Given the description of an element on the screen output the (x, y) to click on. 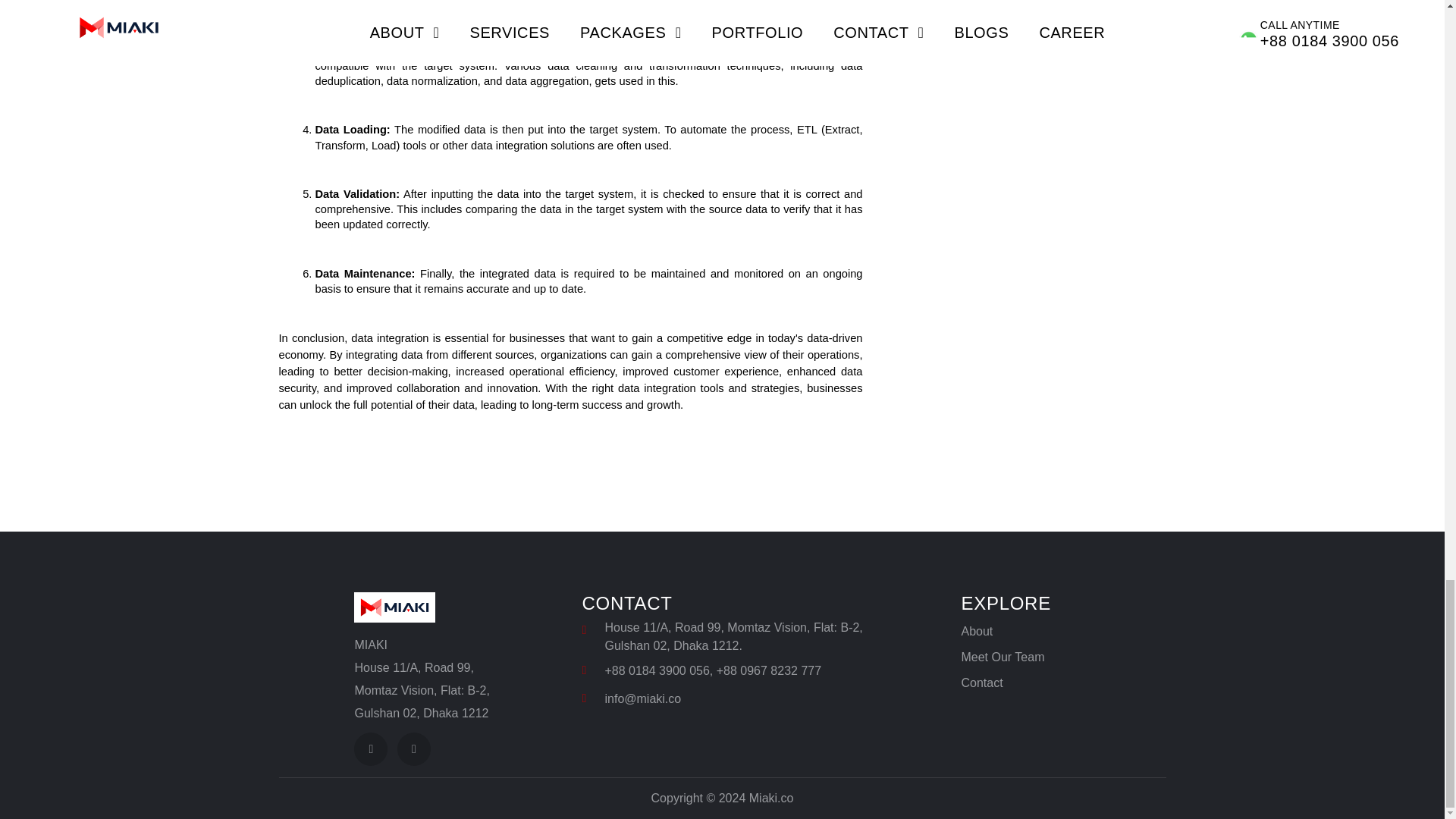
Meet Our Team (1001, 656)
Contact (981, 682)
About (976, 631)
